Given the description of an element on the screen output the (x, y) to click on. 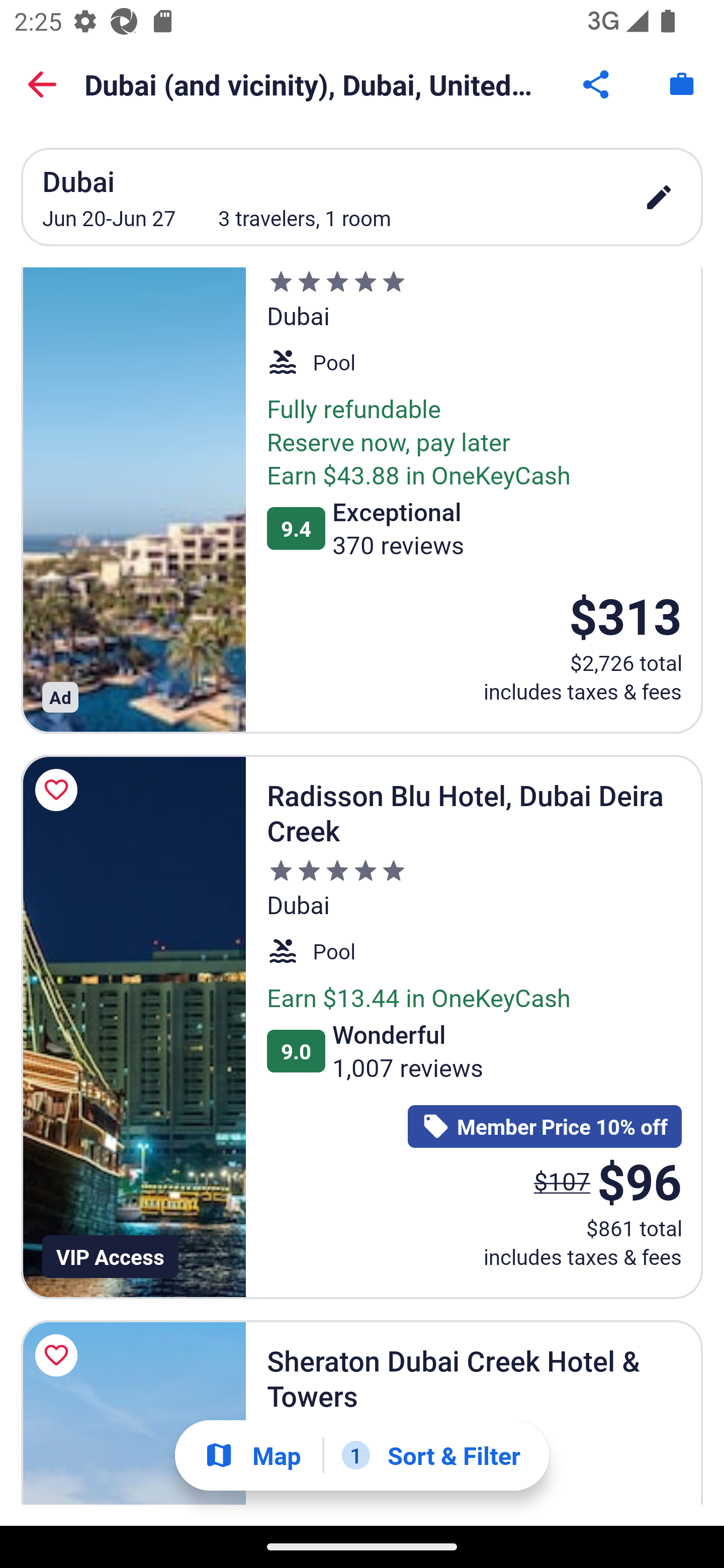
Back (42, 84)
Share Button (597, 84)
Trips. Button (681, 84)
Dubai Jun 20-Jun 27 3 travelers, 1 room edit (361, 196)
Jumeirah Al Naseem (133, 500)
Radisson Blu Hotel, Dubai Deira Creek (133, 1026)
$107 The price was $107 (561, 1180)
Save Sheraton Dubai Creek Hotel & Towers to a trip (59, 1355)
Sheraton Dubai Creek Hotel & Towers (133, 1412)
1 Sort & Filter 1 Filter applied. Filters Button (430, 1455)
Show map Map Show map Button (252, 1455)
